Given the description of an element on the screen output the (x, y) to click on. 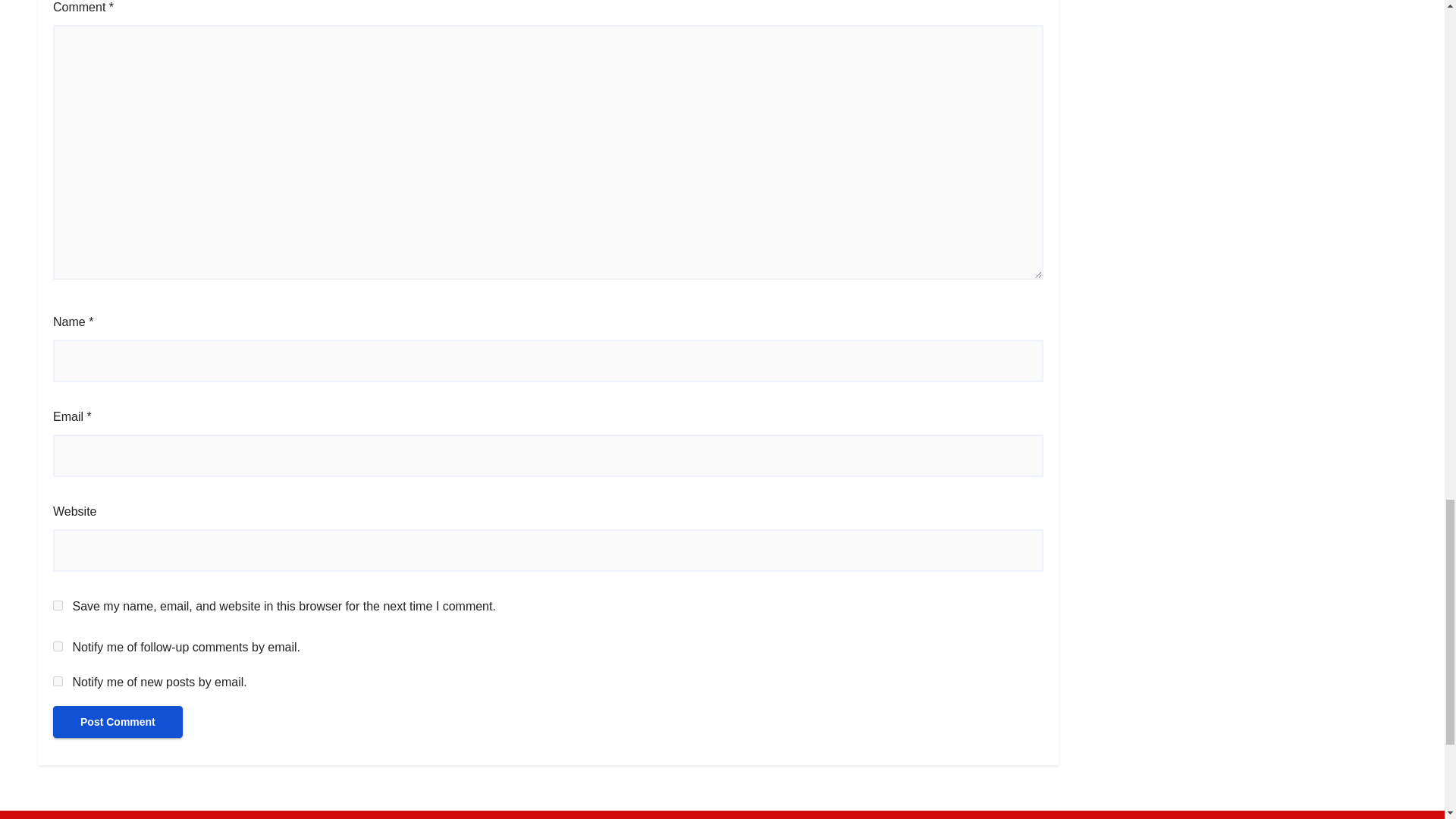
subscribe (57, 681)
subscribe (57, 646)
Post Comment (117, 721)
yes (57, 605)
